Given the description of an element on the screen output the (x, y) to click on. 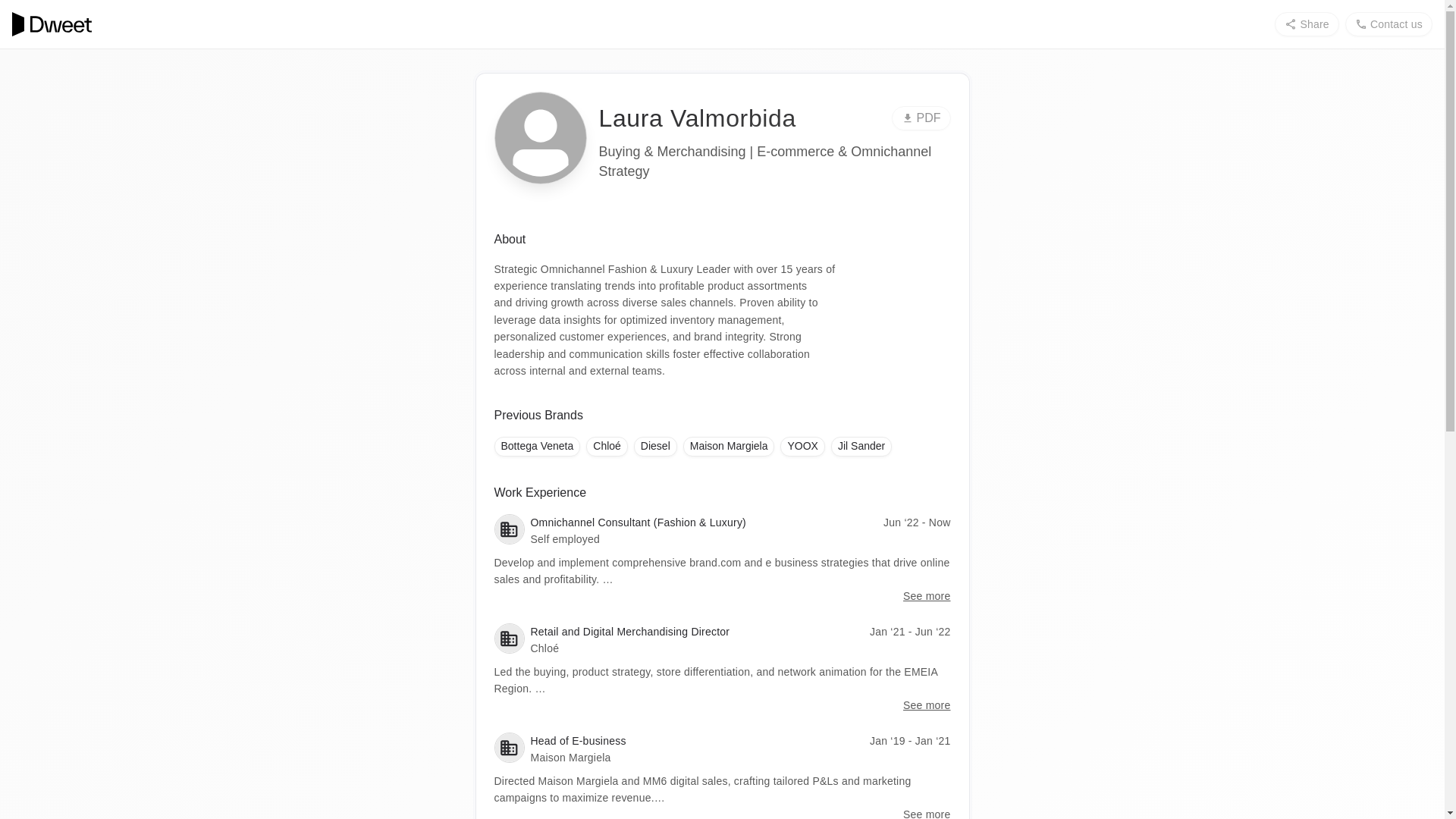
PDF (920, 118)
See more (926, 704)
See more (926, 596)
Share (1306, 24)
Contact us (1388, 24)
